Given the description of an element on the screen output the (x, y) to click on. 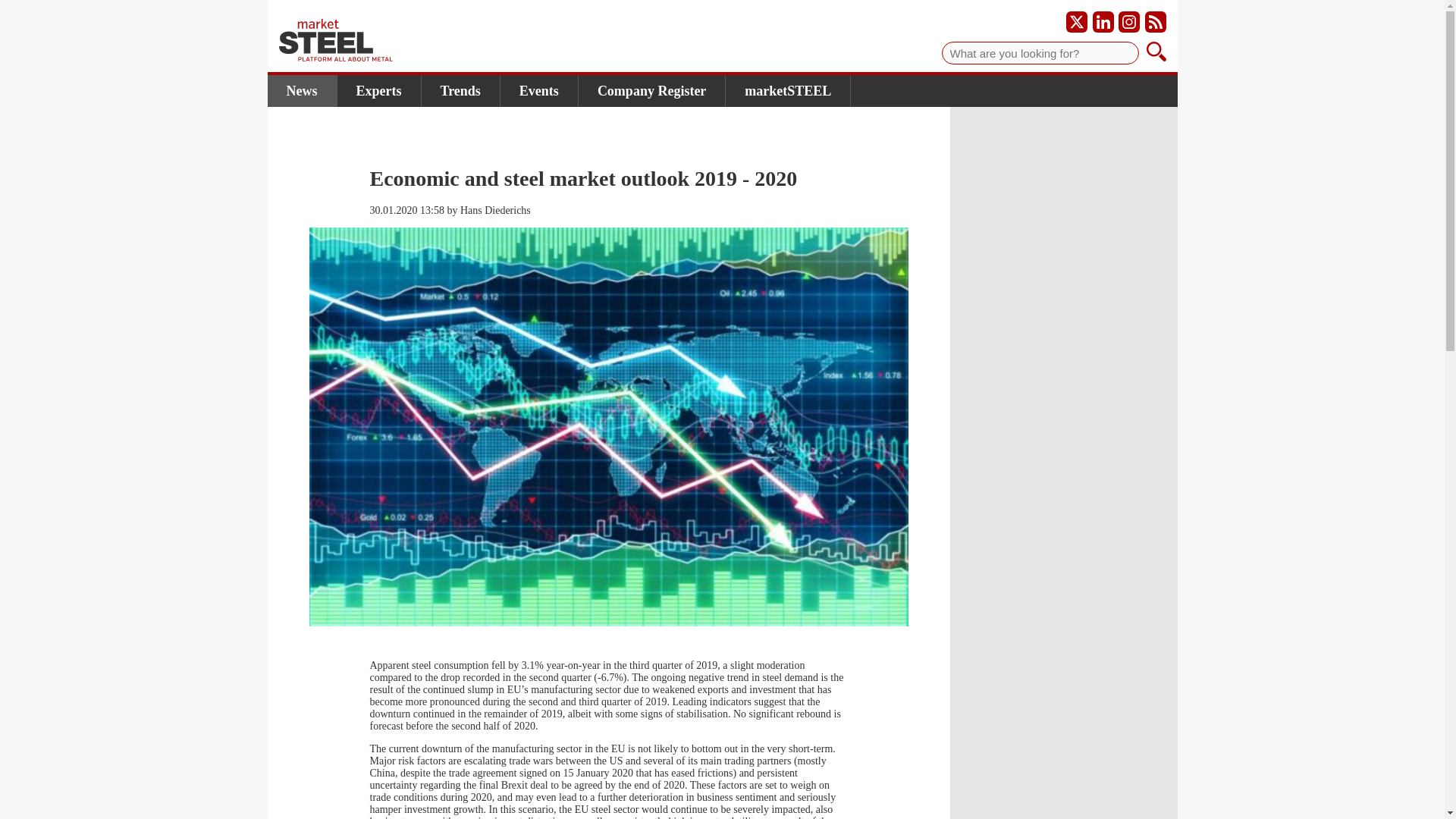
Experts (378, 91)
Trends (461, 91)
News (301, 91)
Experts (378, 91)
Search (1156, 52)
Trends (461, 91)
News (301, 91)
